Given the description of an element on the screen output the (x, y) to click on. 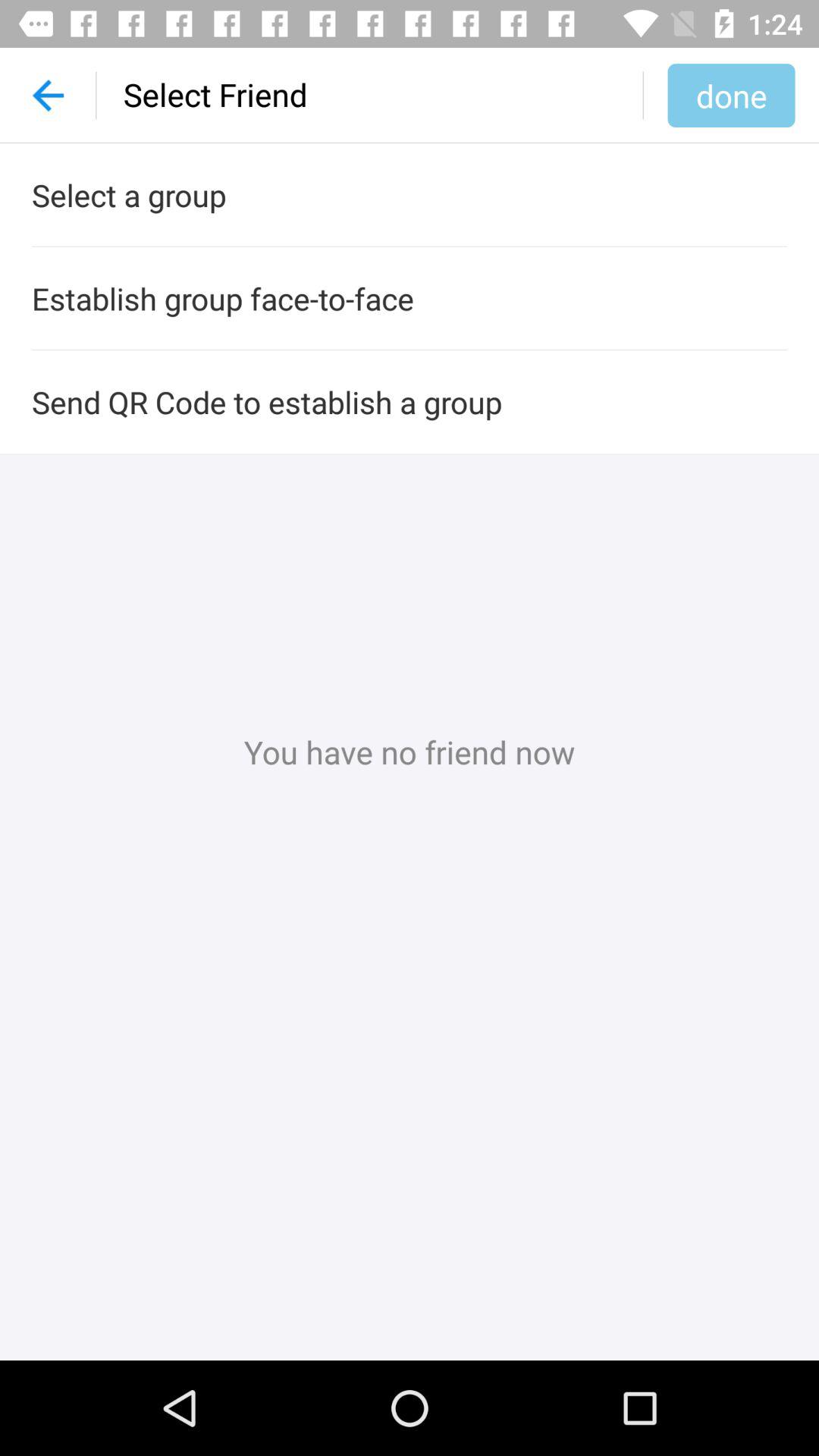
flip to done (731, 95)
